Given the description of an element on the screen output the (x, y) to click on. 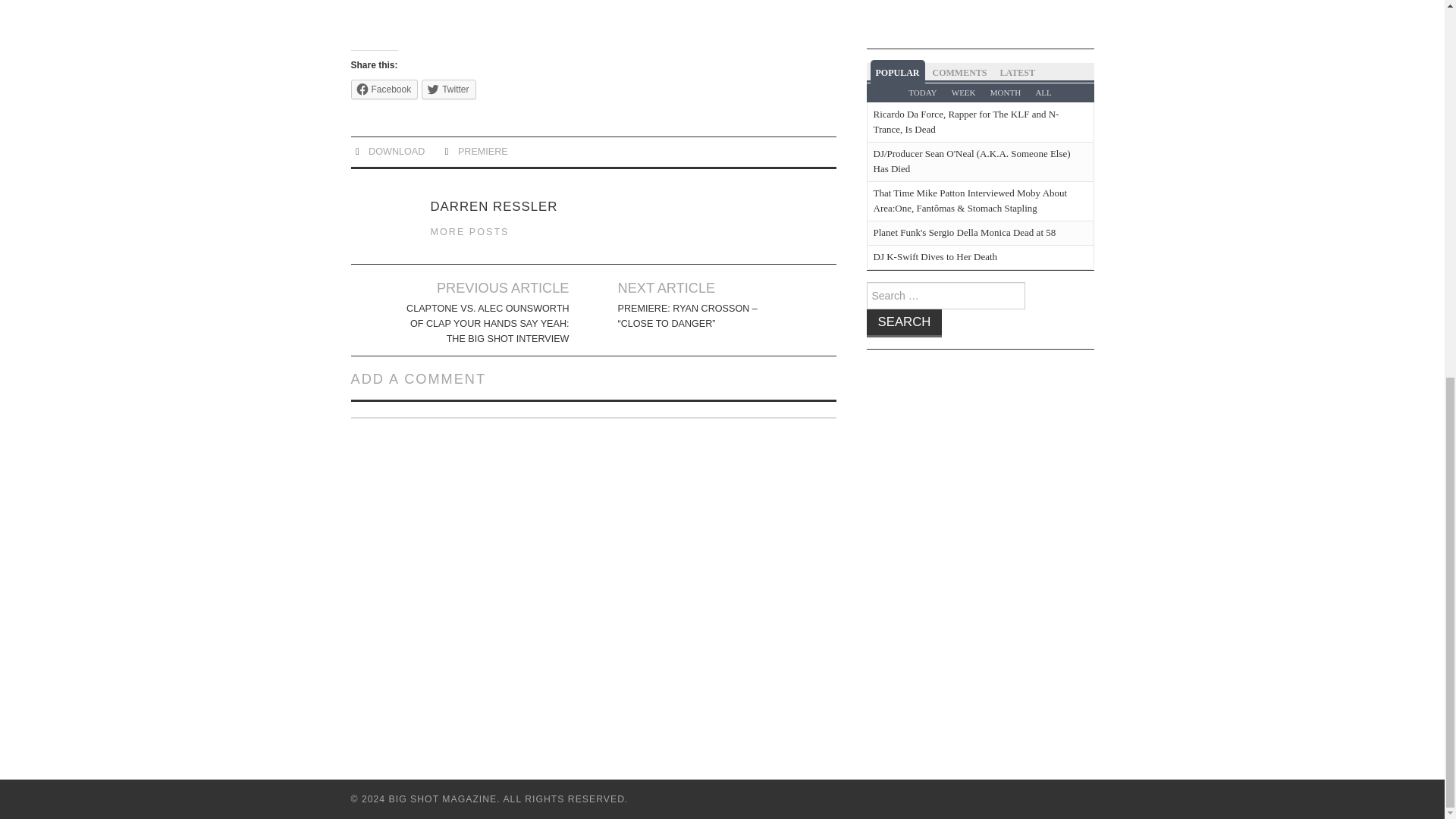
Search (904, 323)
Click to share on Facebook (383, 89)
Search (904, 323)
MORE POSTS (469, 231)
Facebook (383, 89)
DJ K-Swift Dives to Her Death (935, 256)
PREMIERE (483, 151)
Ricardo Da Force, Rapper for The KLF and N-Trance, Is Dead (966, 121)
Twitter (449, 89)
